Given the description of an element on the screen output the (x, y) to click on. 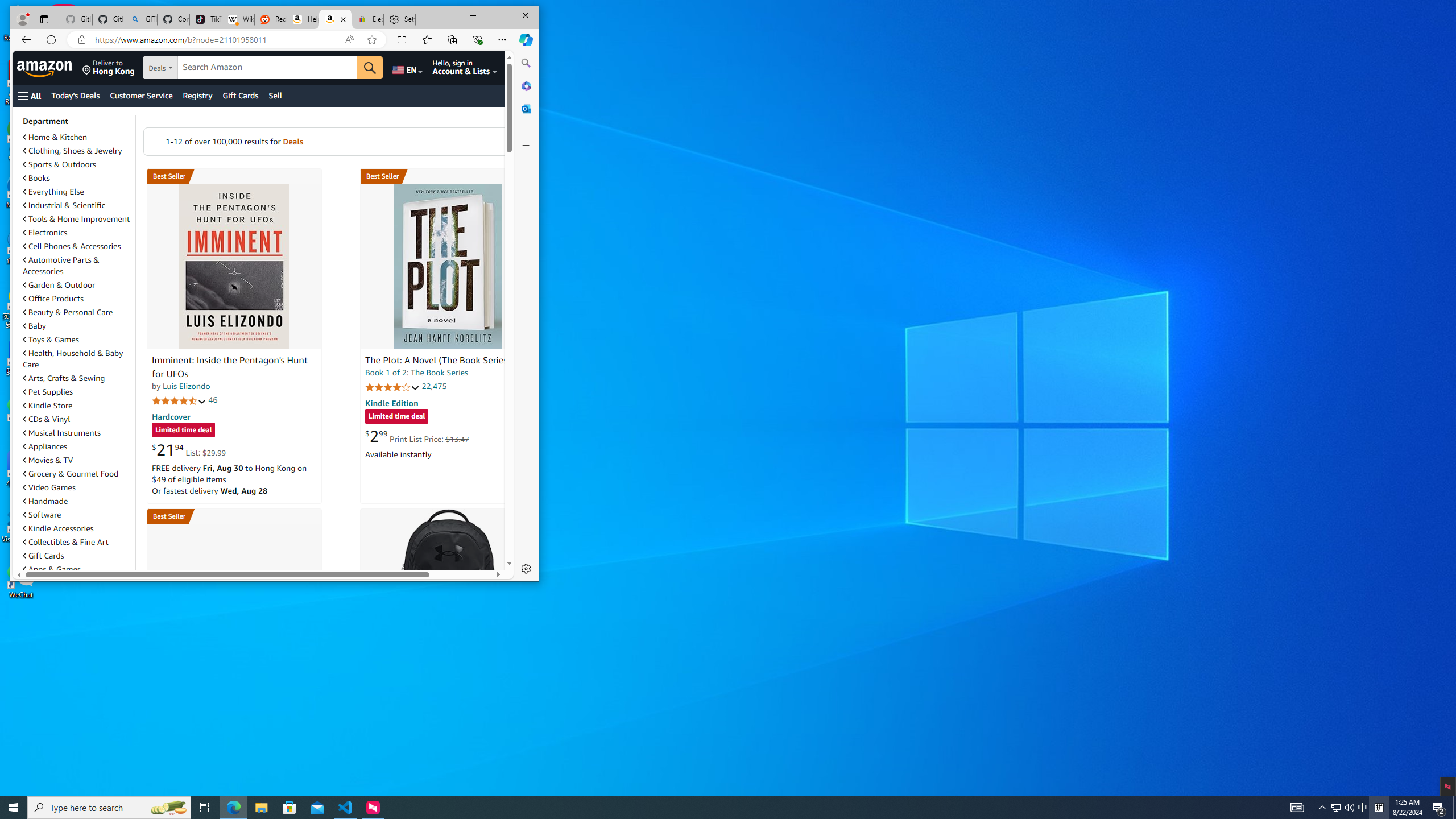
Musical Instruments (77, 432)
Start (13, 807)
Apps & Games (1362, 807)
Kindle Accessories (77, 568)
Today's Deals (58, 528)
Search highlights icon opens search home window (75, 95)
Health, Household & Baby Care (167, 807)
Automotive Parts & Accessories (73, 358)
Electronics (61, 265)
